Given the description of an element on the screen output the (x, y) to click on. 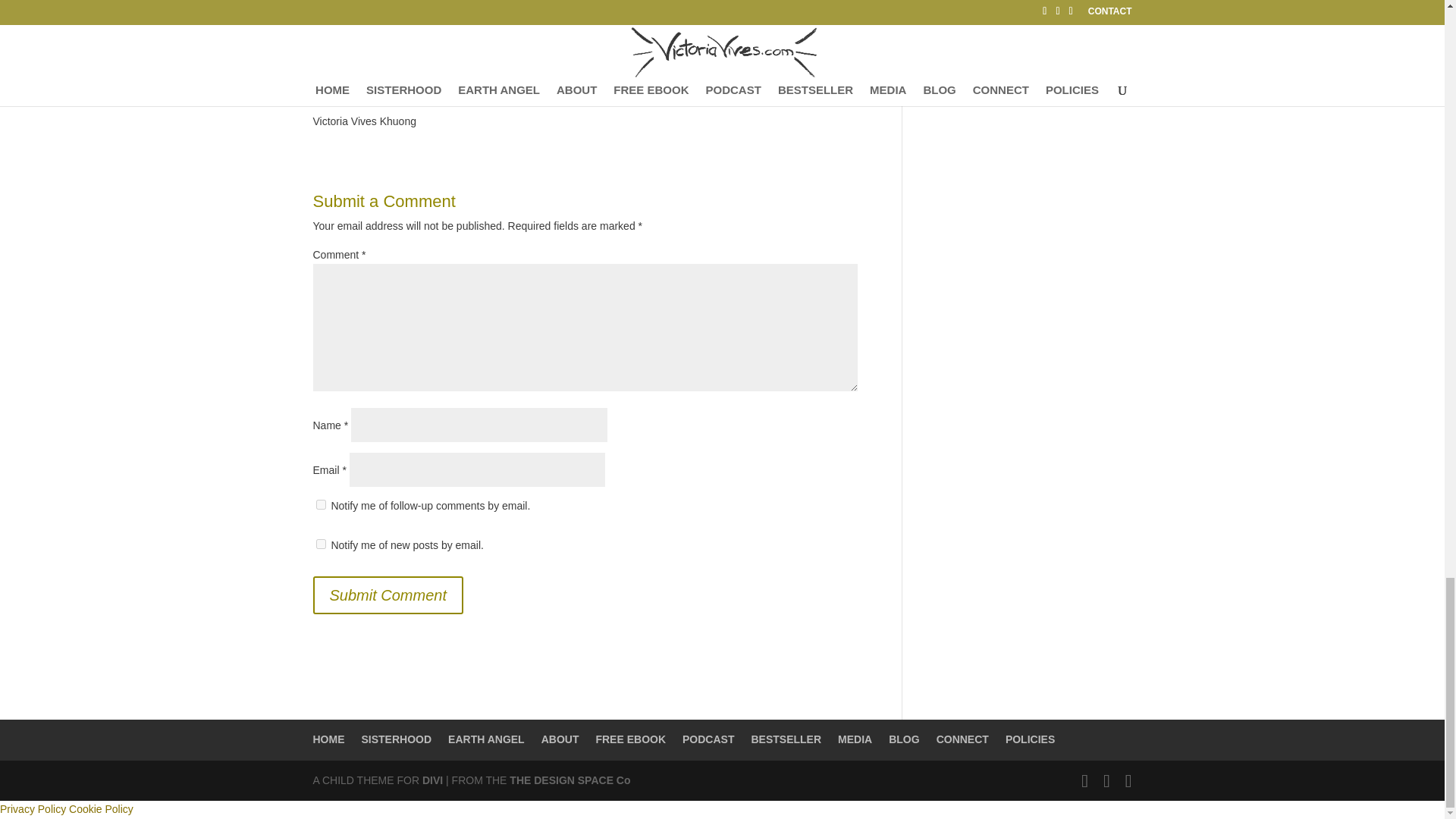
subscribe (319, 543)
Submit Comment (388, 595)
Cookie Policy  (100, 808)
subscribe (319, 504)
Premium WordPress Themes (432, 779)
Privacy Policy  (32, 808)
Submit Comment (388, 595)
